Given the description of an element on the screen output the (x, y) to click on. 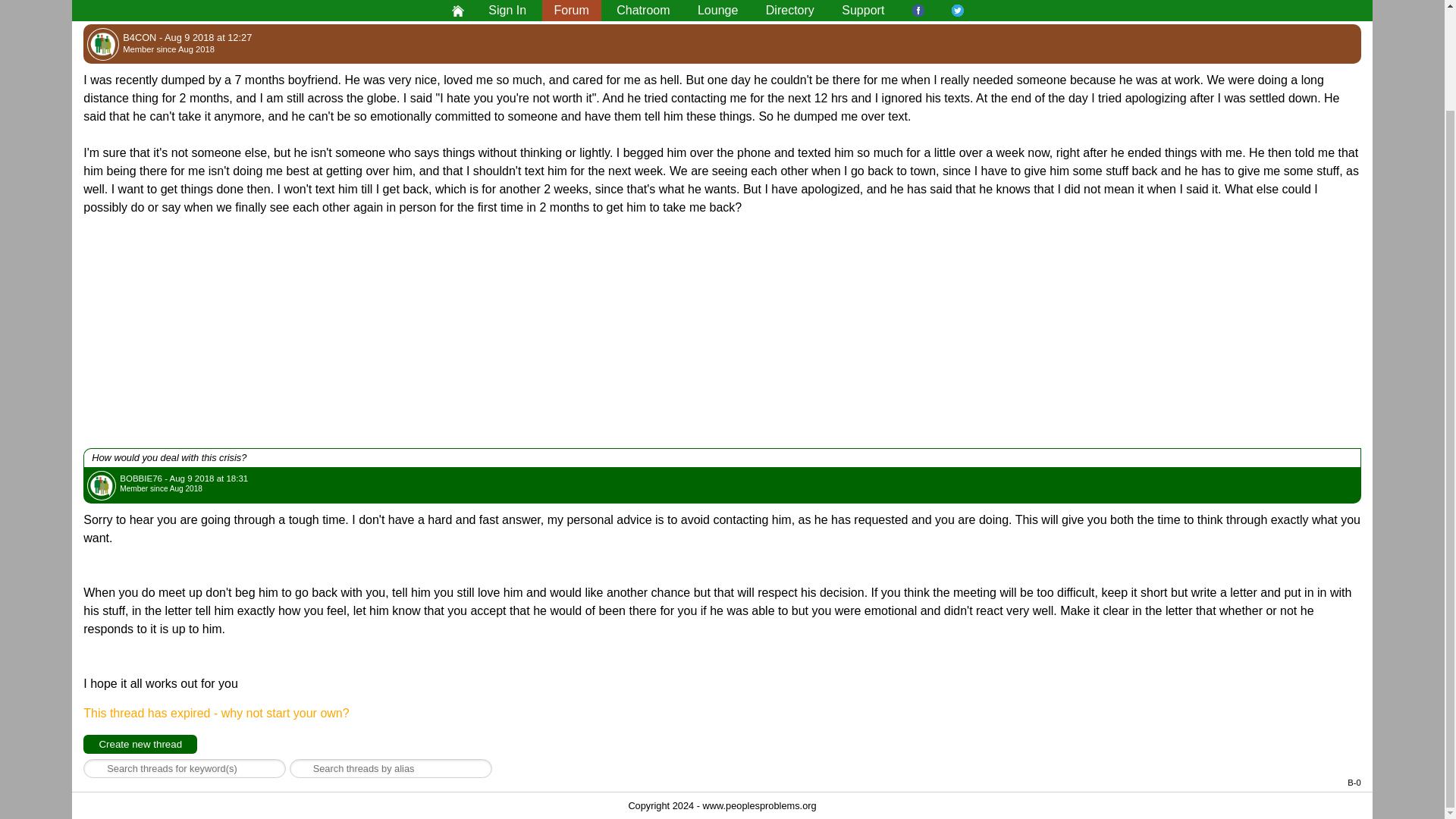
Create new thread (139, 743)
